Given the description of an element on the screen output the (x, y) to click on. 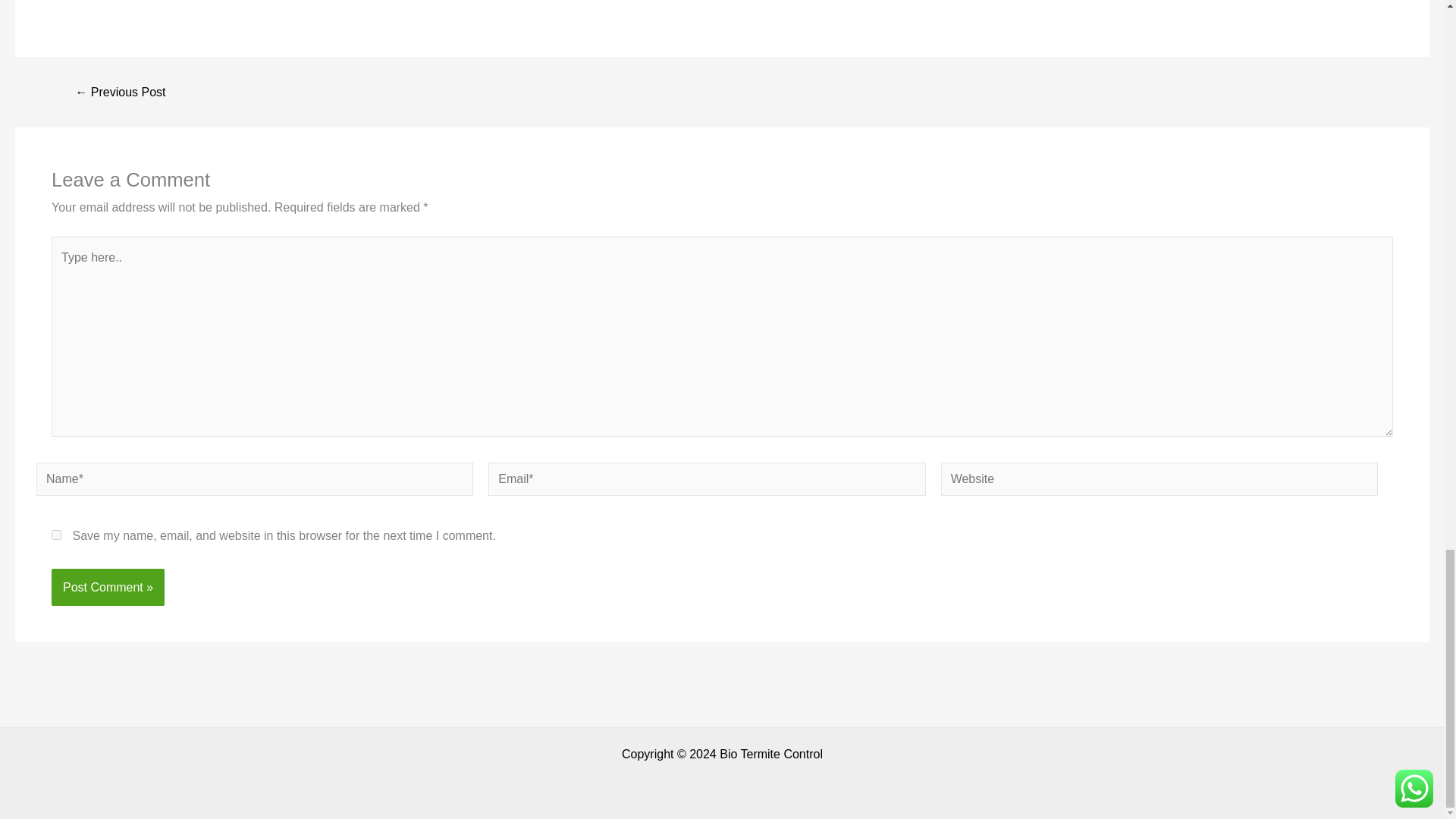
yes (55, 534)
Your New Year Termite Control Checklist (119, 92)
